Given the description of an element on the screen output the (x, y) to click on. 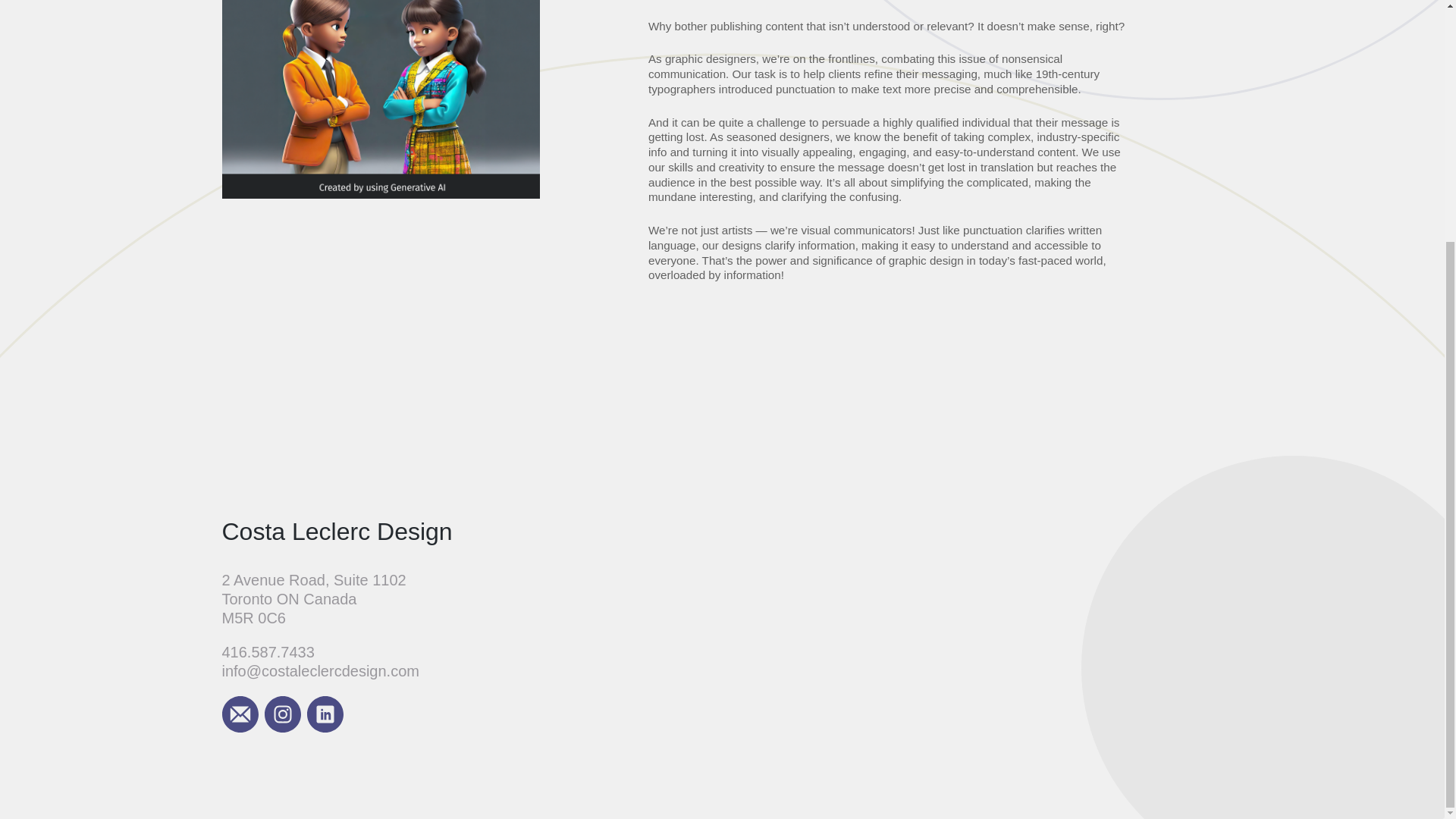
Linkedin (323, 714)
Email (239, 714)
Instagram (281, 714)
